Given the description of an element on the screen output the (x, y) to click on. 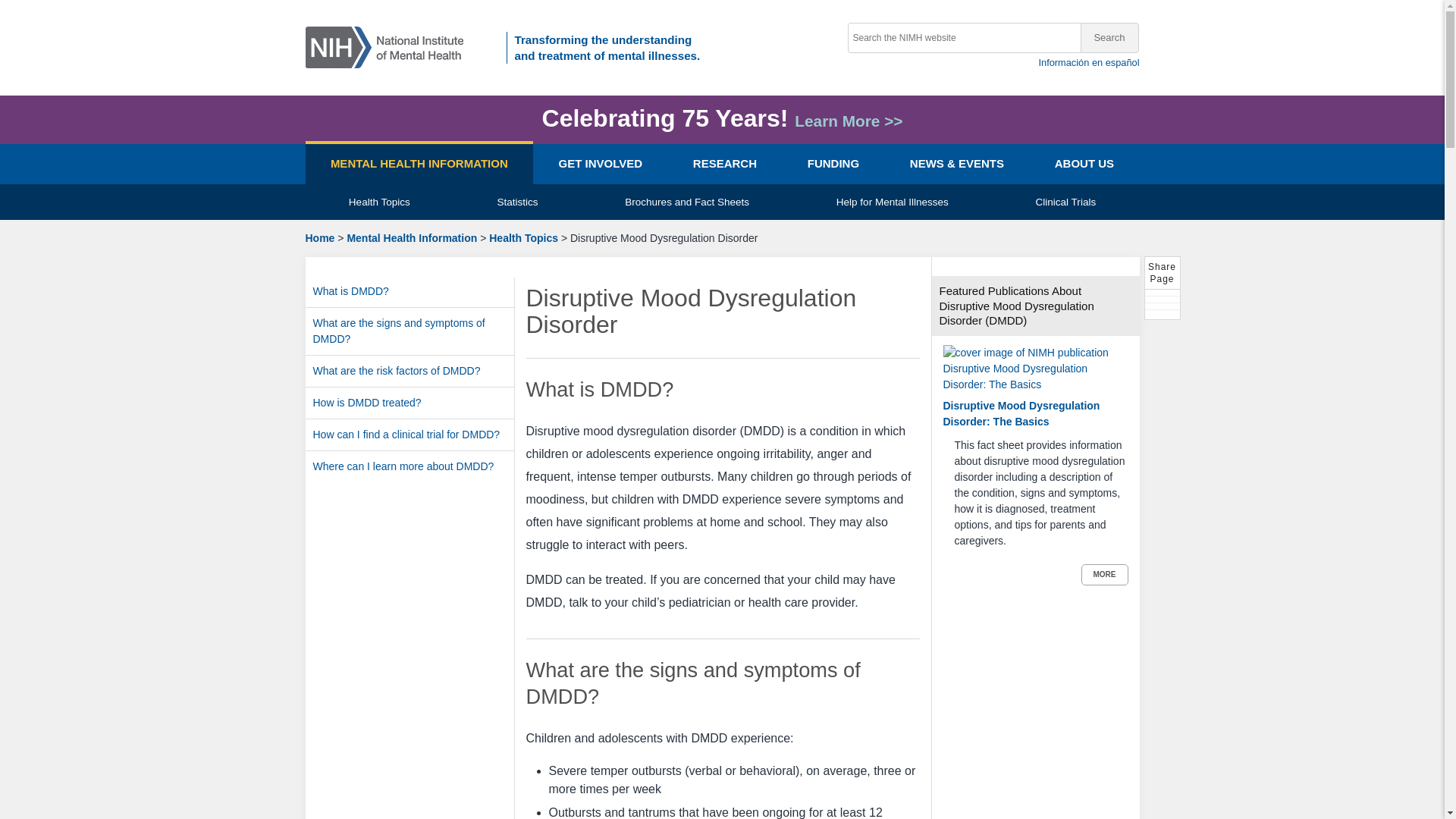
FUNDING (832, 164)
NIMH Home (389, 46)
RESEARCH (723, 164)
Search (1109, 37)
Search (1109, 37)
GET INVOLVED (599, 164)
ABOUT US (1083, 164)
MENTAL HEALTH INFORMATION (418, 164)
